Given the description of an element on the screen output the (x, y) to click on. 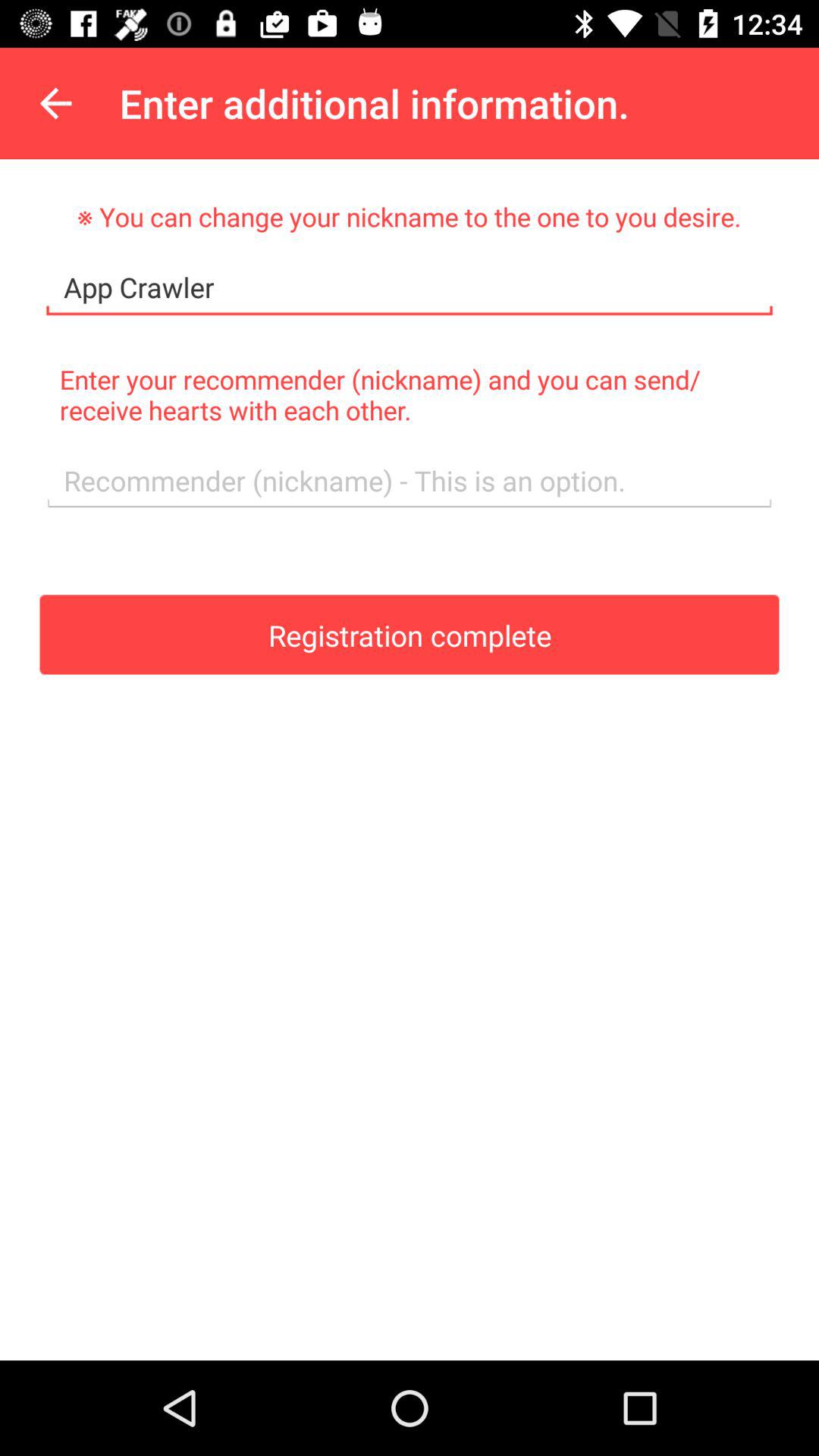
enter text (409, 481)
